Given the description of an element on the screen output the (x, y) to click on. 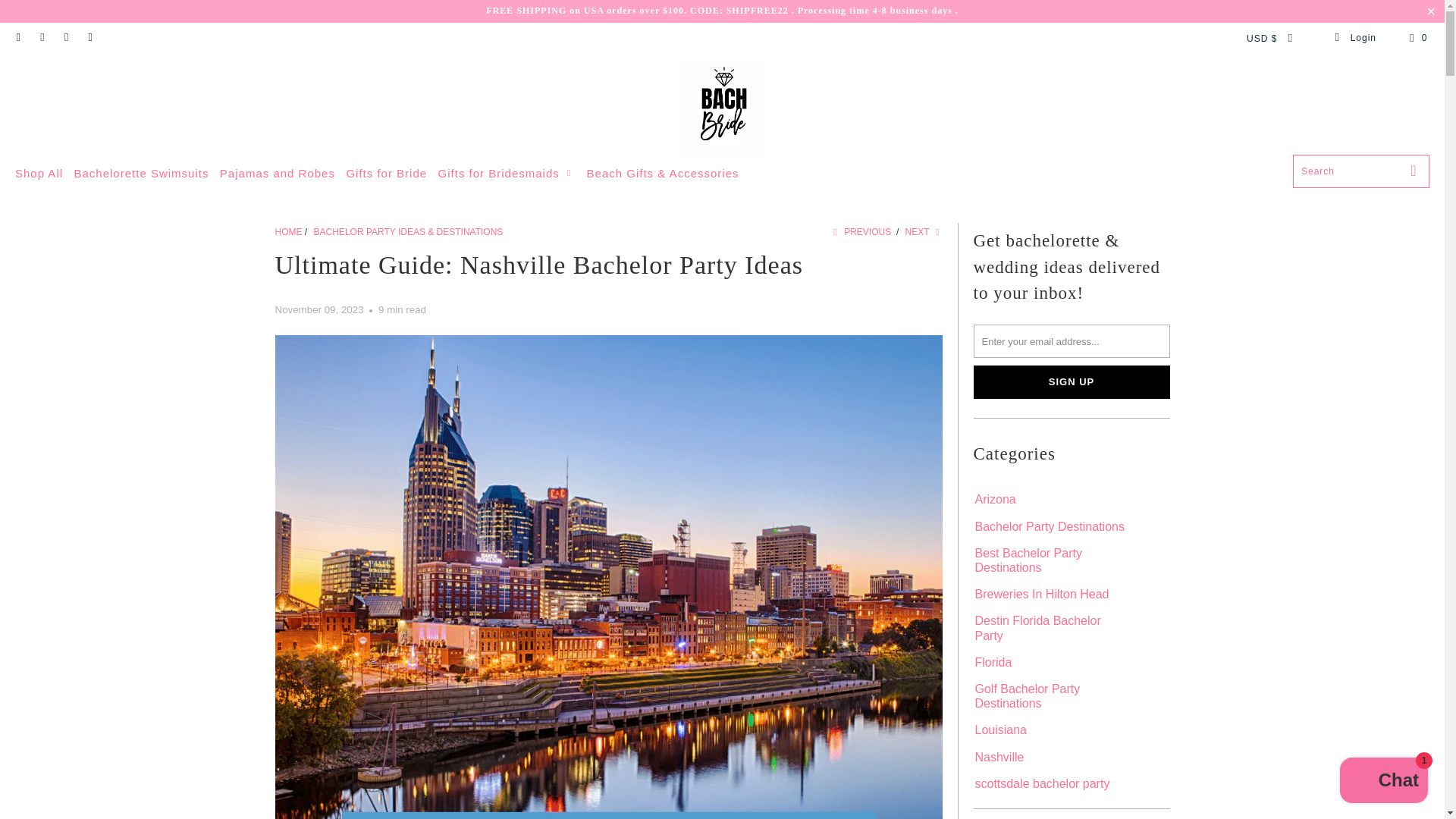
Pajamas and Robes (276, 173)
Bach Bride on Pinterest (41, 37)
Bach Bride (288, 231)
Sign Up (1072, 381)
My Account  (1355, 37)
Email Bach Bride (89, 37)
Shop All (38, 173)
Login (1355, 37)
Bach Bride on Facebook (17, 37)
Bachelorette Swimsuits (141, 173)
Bach Bride on Instagram (65, 37)
